Given the description of an element on the screen output the (x, y) to click on. 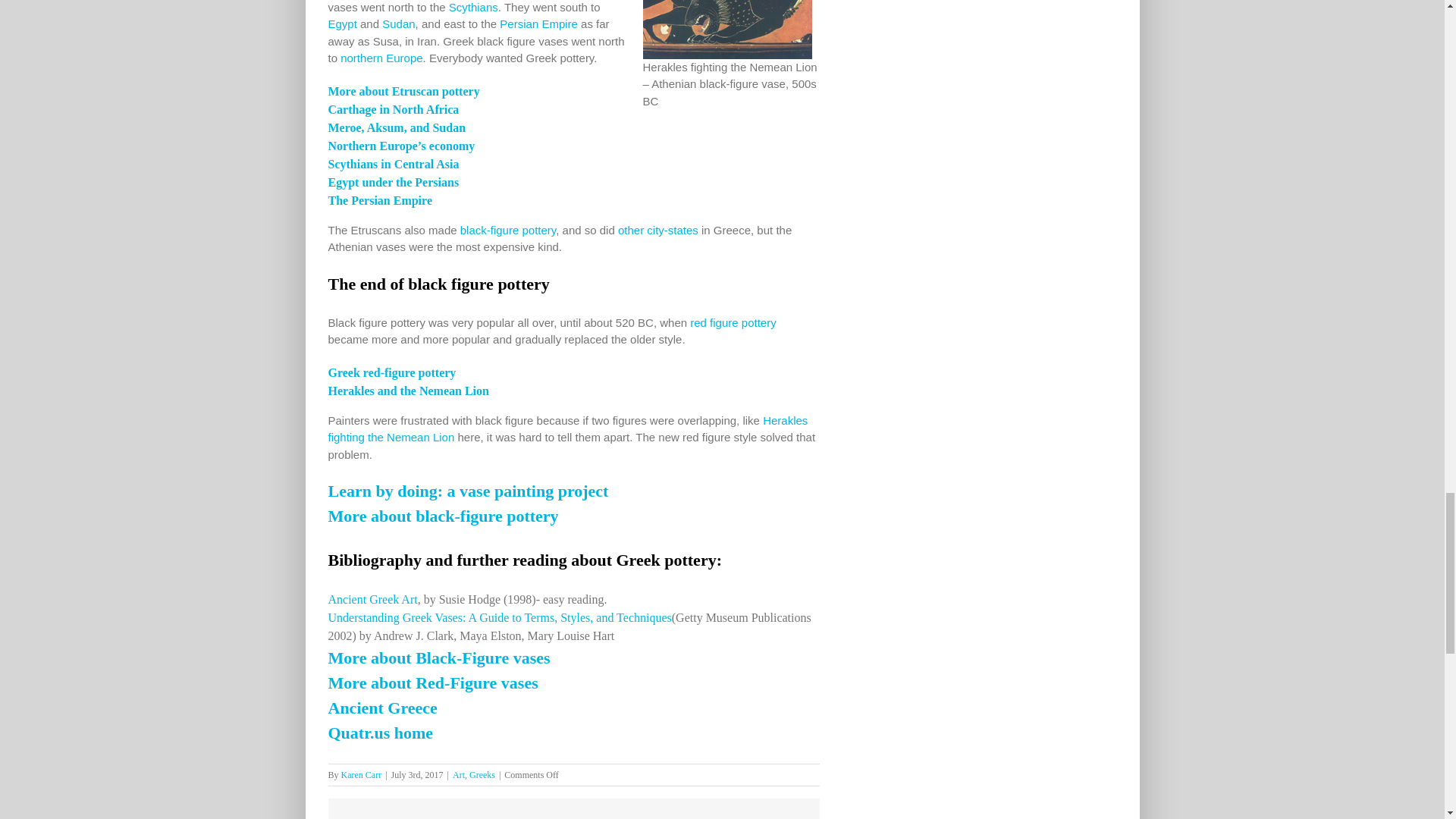
Posts by Karen Carr (360, 774)
